Given the description of an element on the screen output the (x, y) to click on. 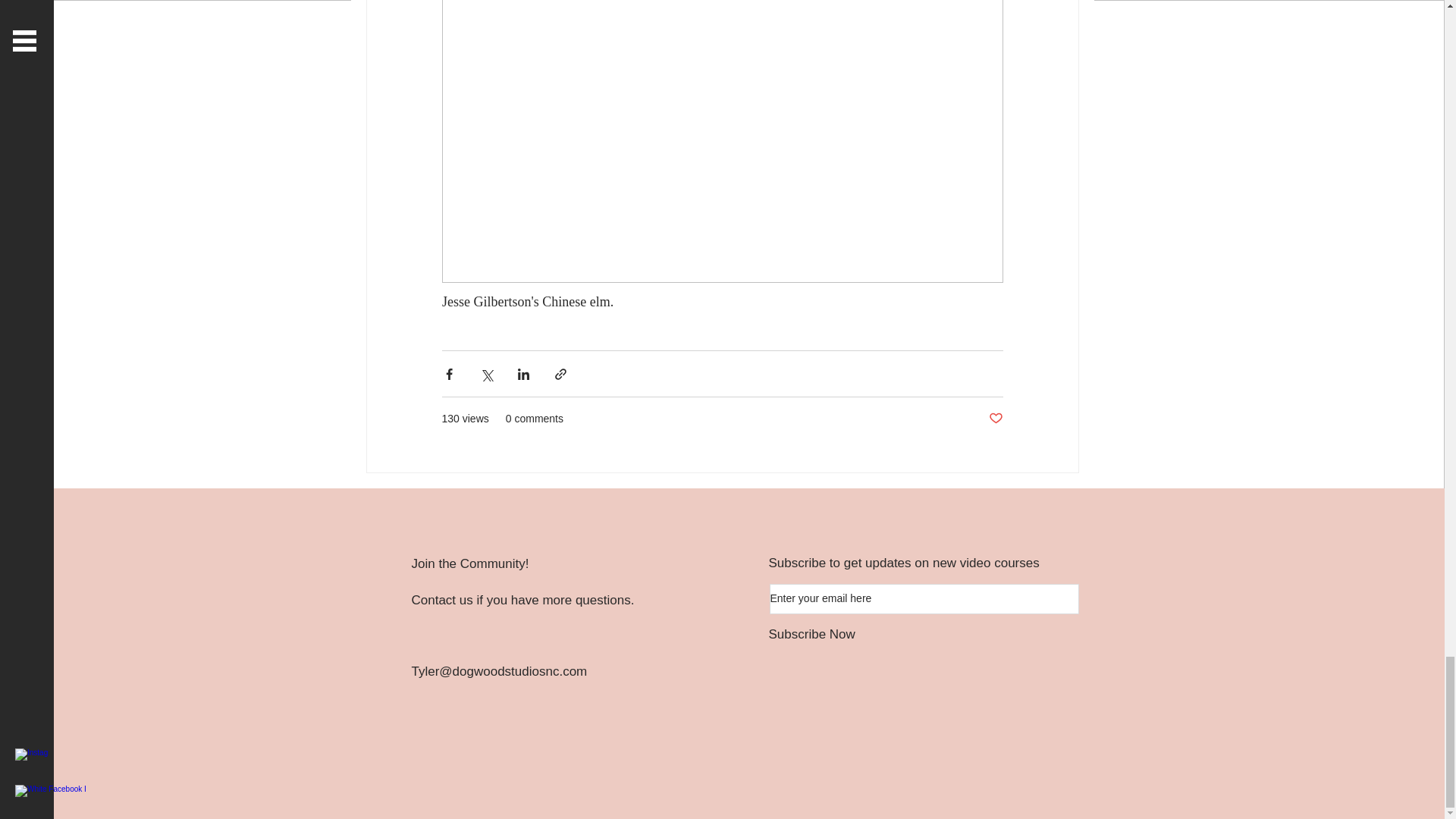
Post not marked as liked (995, 418)
Subscribe Now (892, 634)
